Given the description of an element on the screen output the (x, y) to click on. 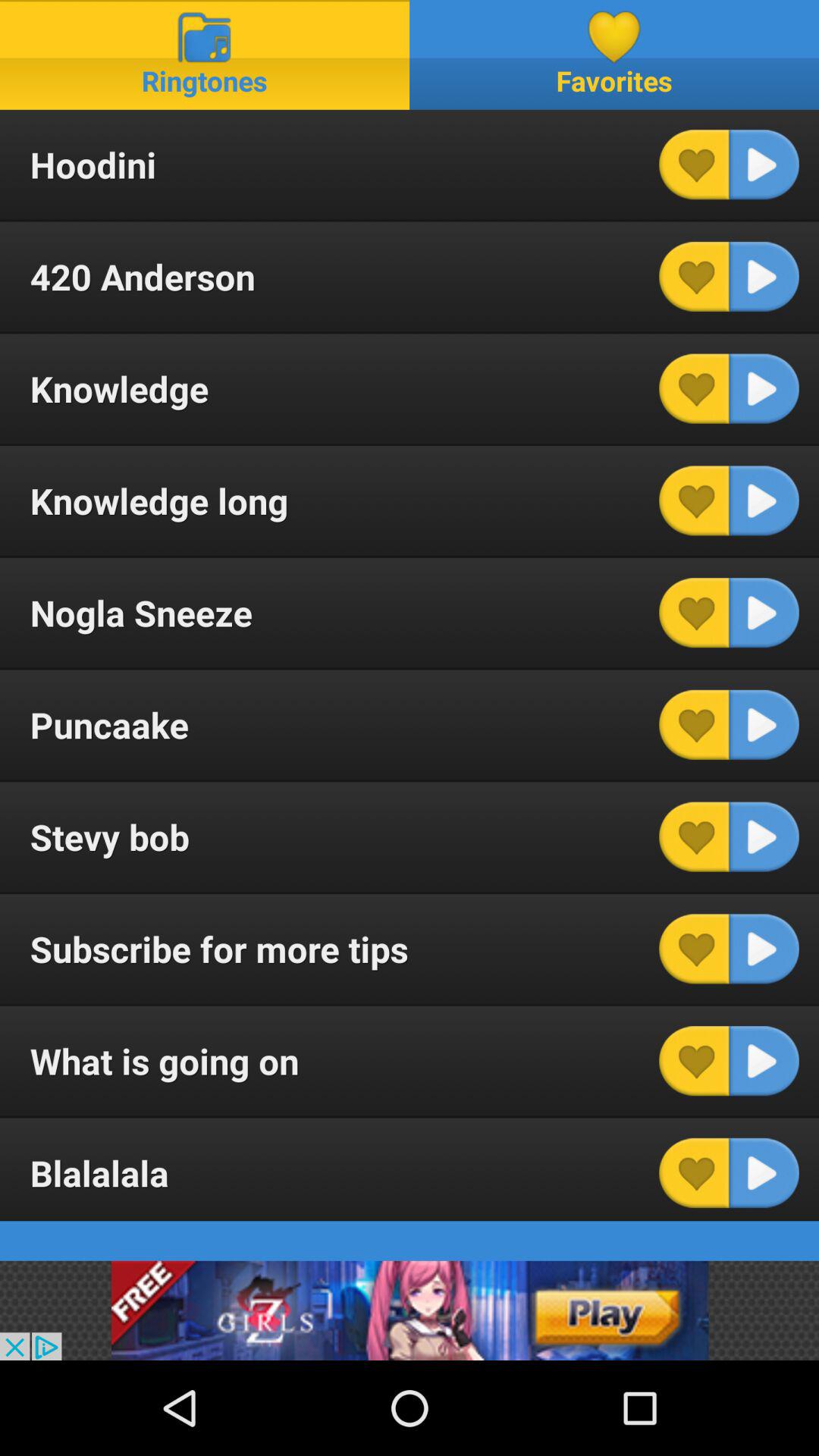
click for sample (764, 388)
